Given the description of an element on the screen output the (x, y) to click on. 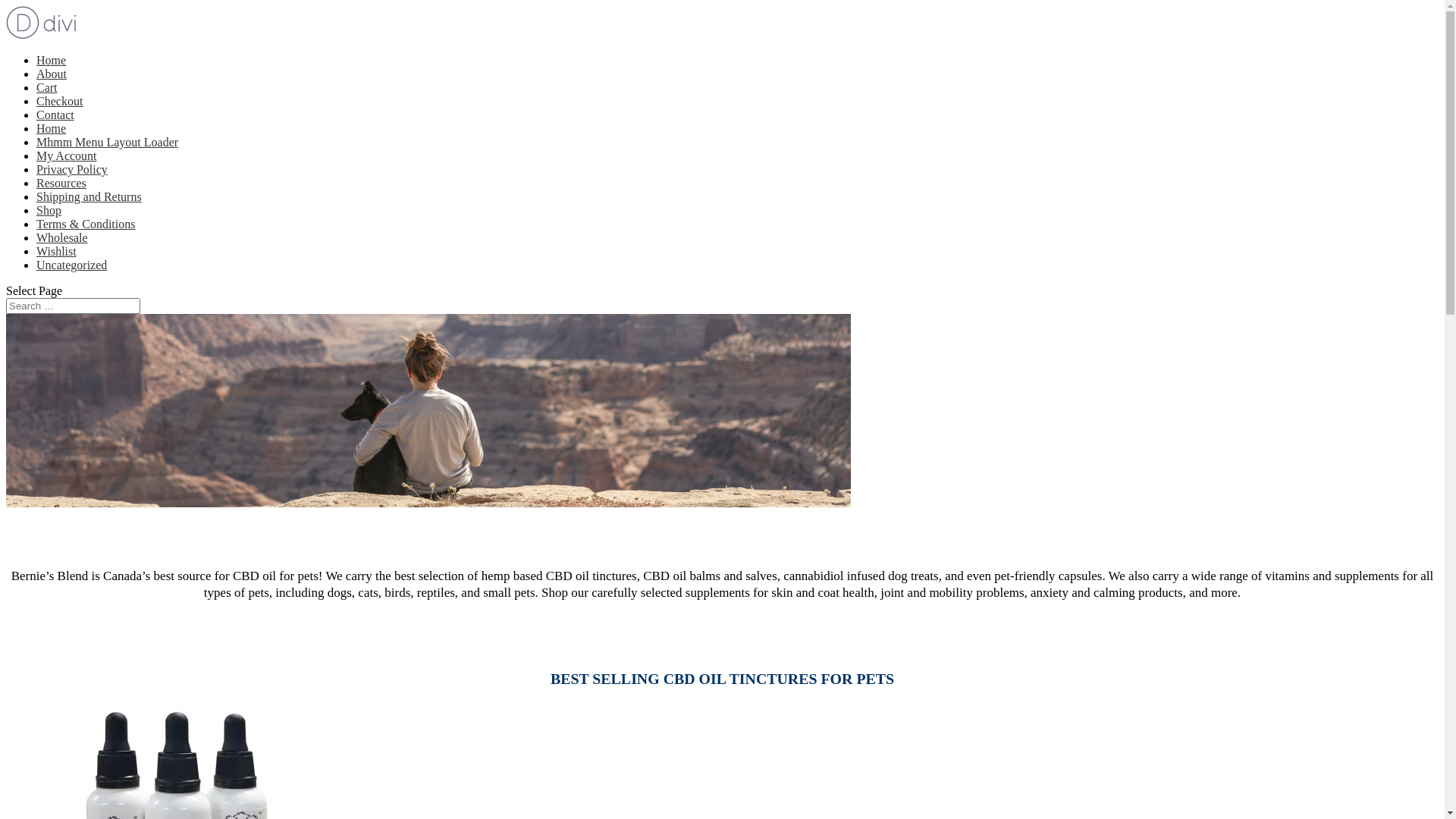
Terms & Conditions Element type: text (85, 223)
Checkout Element type: text (59, 100)
Privacy Policy Element type: text (71, 169)
Home Element type: text (50, 59)
My Account Element type: text (66, 155)
Resources Element type: text (61, 182)
Mhmm Menu Layout Loader Element type: text (107, 141)
Uncategorized Element type: text (71, 264)
Wholesale Element type: text (61, 237)
Contact Element type: text (55, 114)
Shop Element type: text (48, 209)
Wishlist Element type: text (56, 250)
Home Element type: text (50, 128)
Shipping and Returns Element type: text (88, 196)
About Element type: text (51, 73)
Search for: Element type: hover (73, 305)
Cart Element type: text (46, 87)
